Given the description of an element on the screen output the (x, y) to click on. 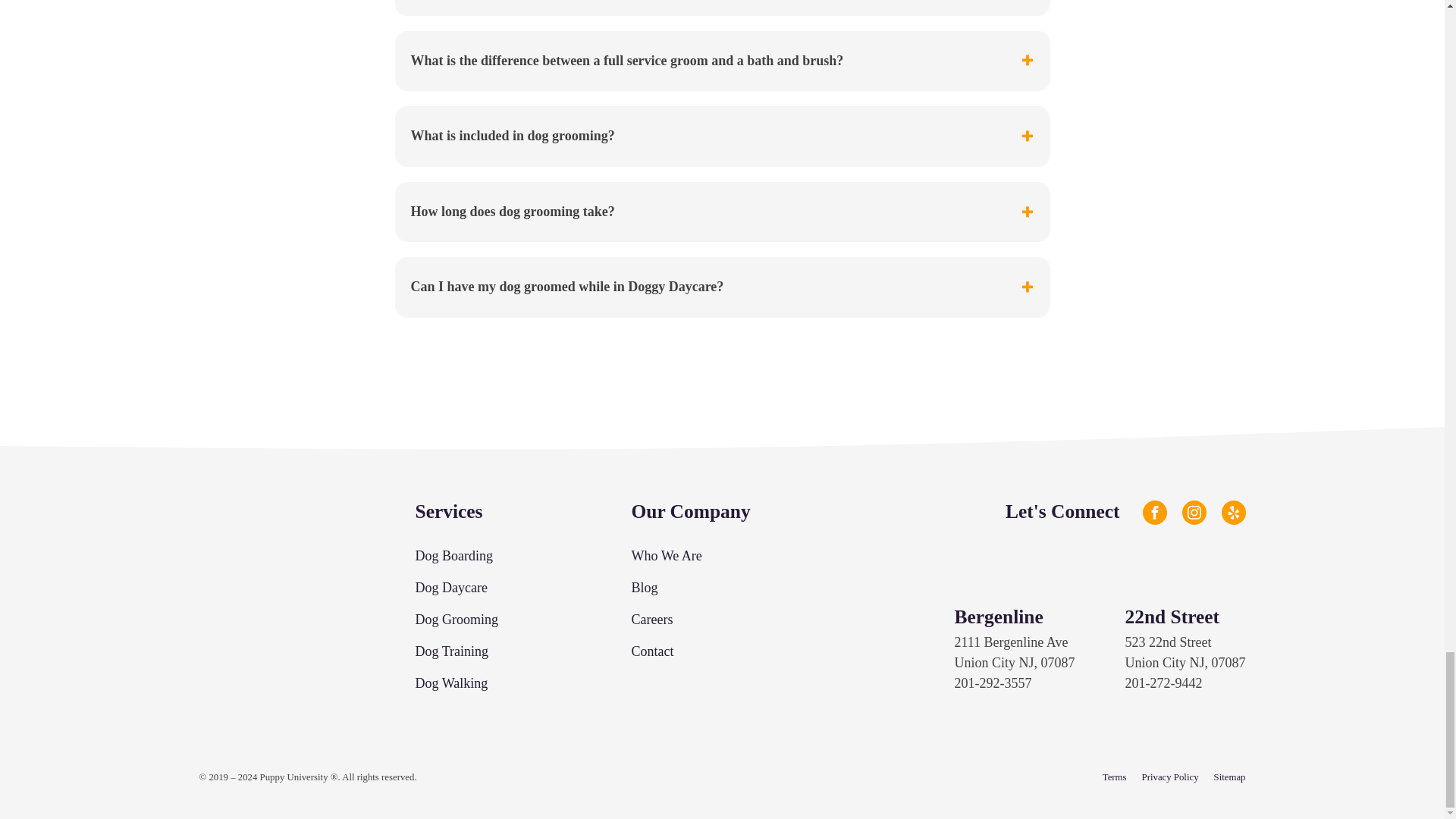
Dog Boarding (453, 556)
How much does dog grooming cost? (722, 7)
Blog (644, 588)
Careers (651, 619)
Can I have my dog groomed while in Doggy Daycare? (722, 286)
Dog Training (451, 651)
Dog Daycare (450, 588)
Who We Are (665, 556)
Dog Grooming (456, 619)
